Given the description of an element on the screen output the (x, y) to click on. 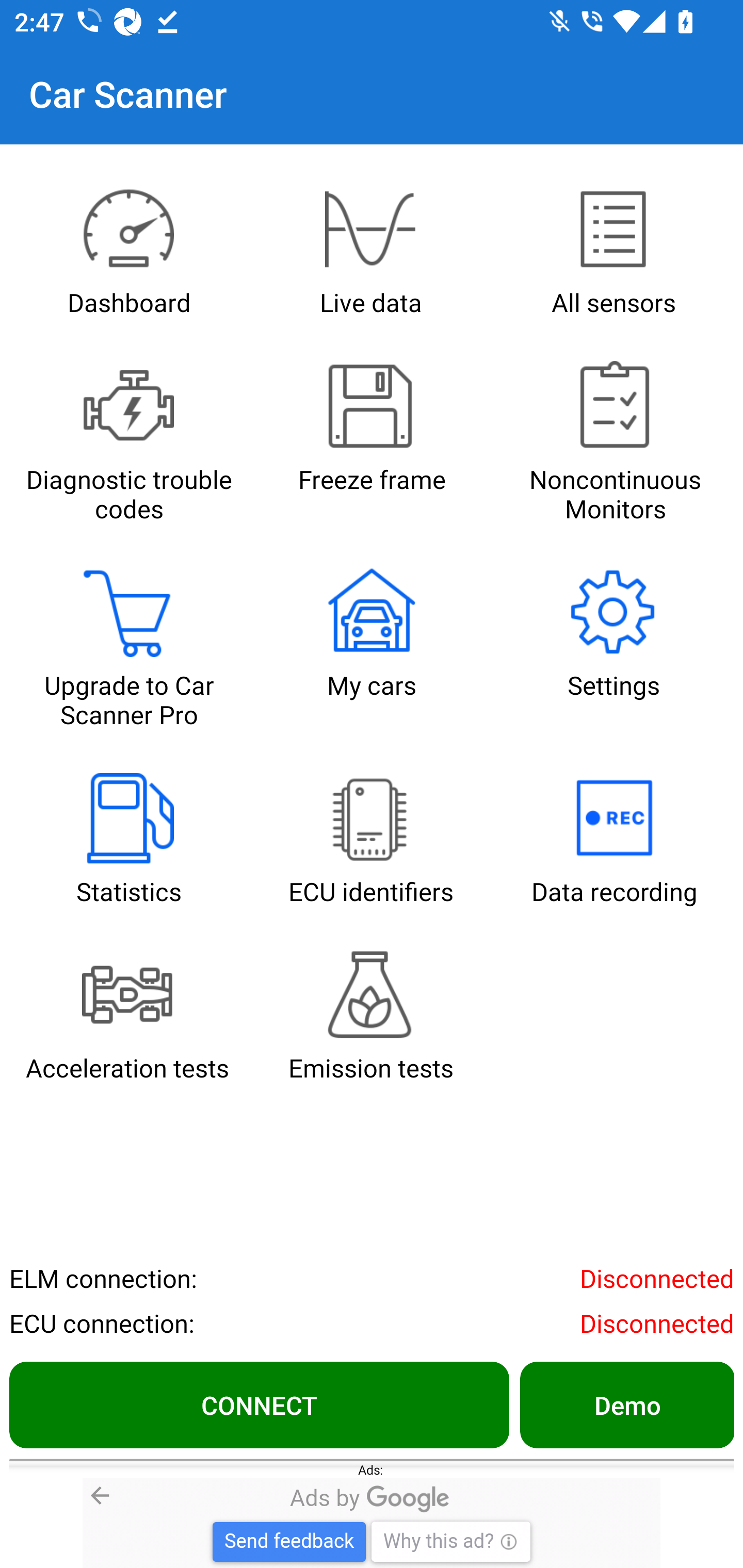
CONNECT (258, 1404)
Demo (627, 1404)
